Given the description of an element on the screen output the (x, y) to click on. 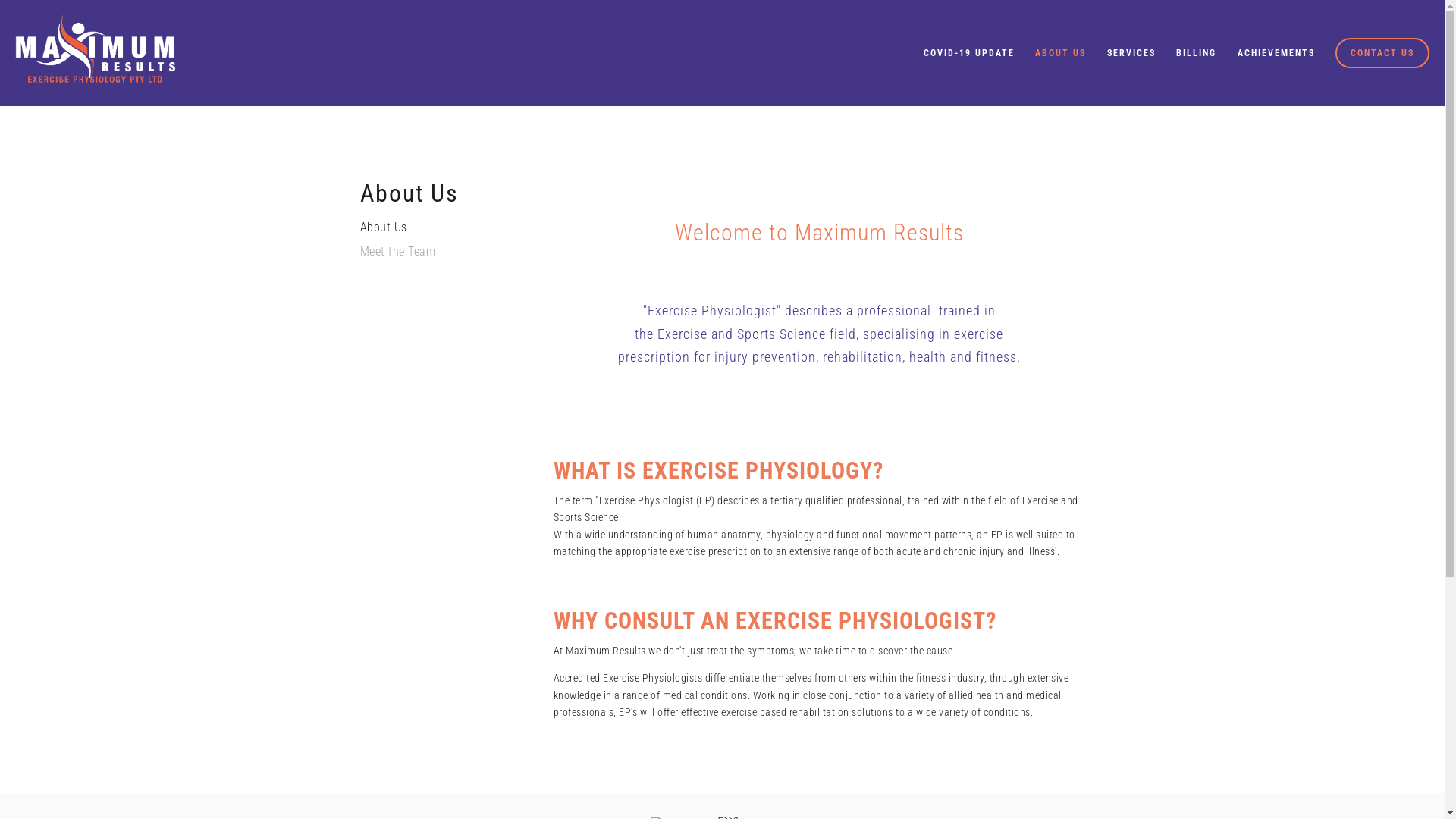
Meet the Team Element type: text (431, 256)
ACHIEVEMENTS Element type: text (1276, 52)
CONTACT US Element type: text (1382, 52)
COVID-19 UPDATE Element type: text (968, 52)
About Us Element type: text (431, 231)
